Given the description of an element on the screen output the (x, y) to click on. 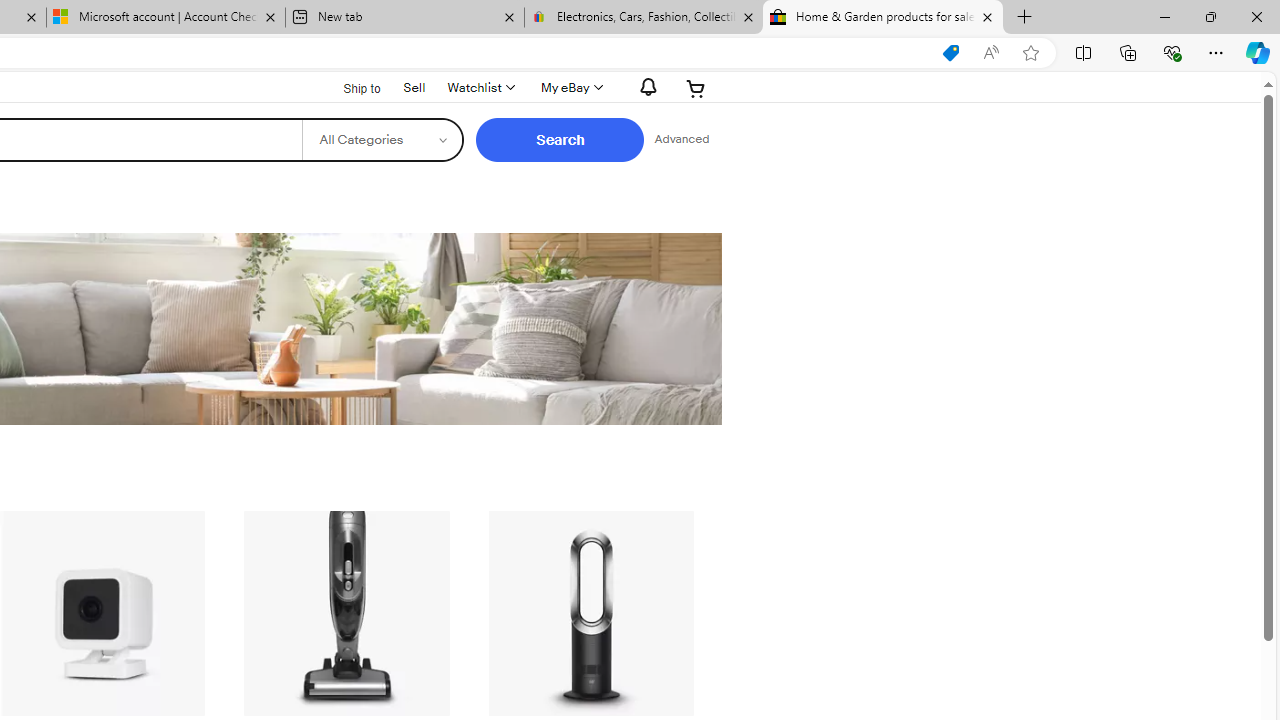
Read aloud this page (Ctrl+Shift+U) (991, 53)
Settings and more (Alt+F) (1215, 52)
